Given the description of an element on the screen output the (x, y) to click on. 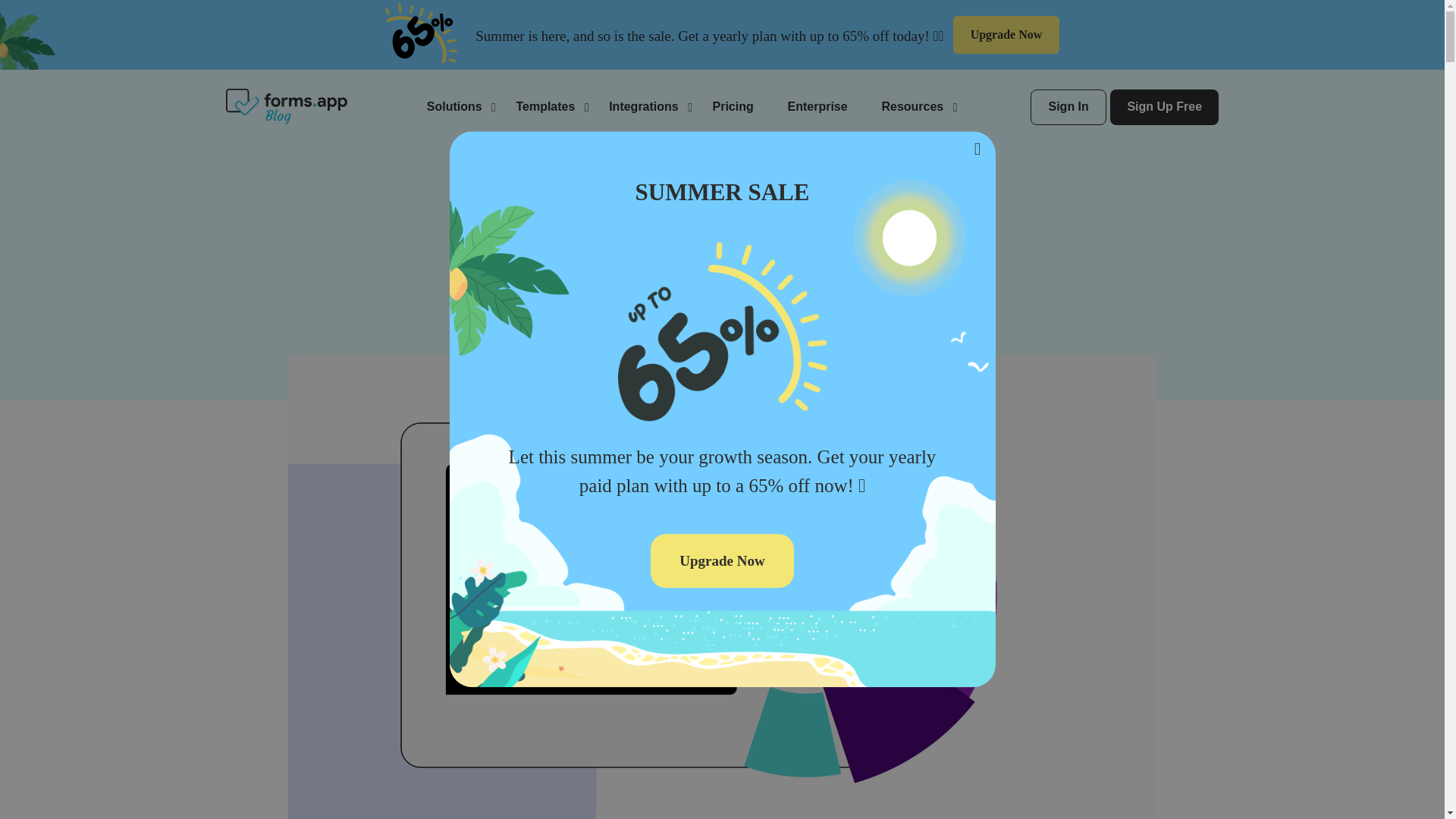
Upgrade Now (1005, 34)
Enterprise (817, 106)
Sign In (1068, 107)
Pricing (733, 106)
Sign Up Free (1163, 107)
